Given the description of an element on the screen output the (x, y) to click on. 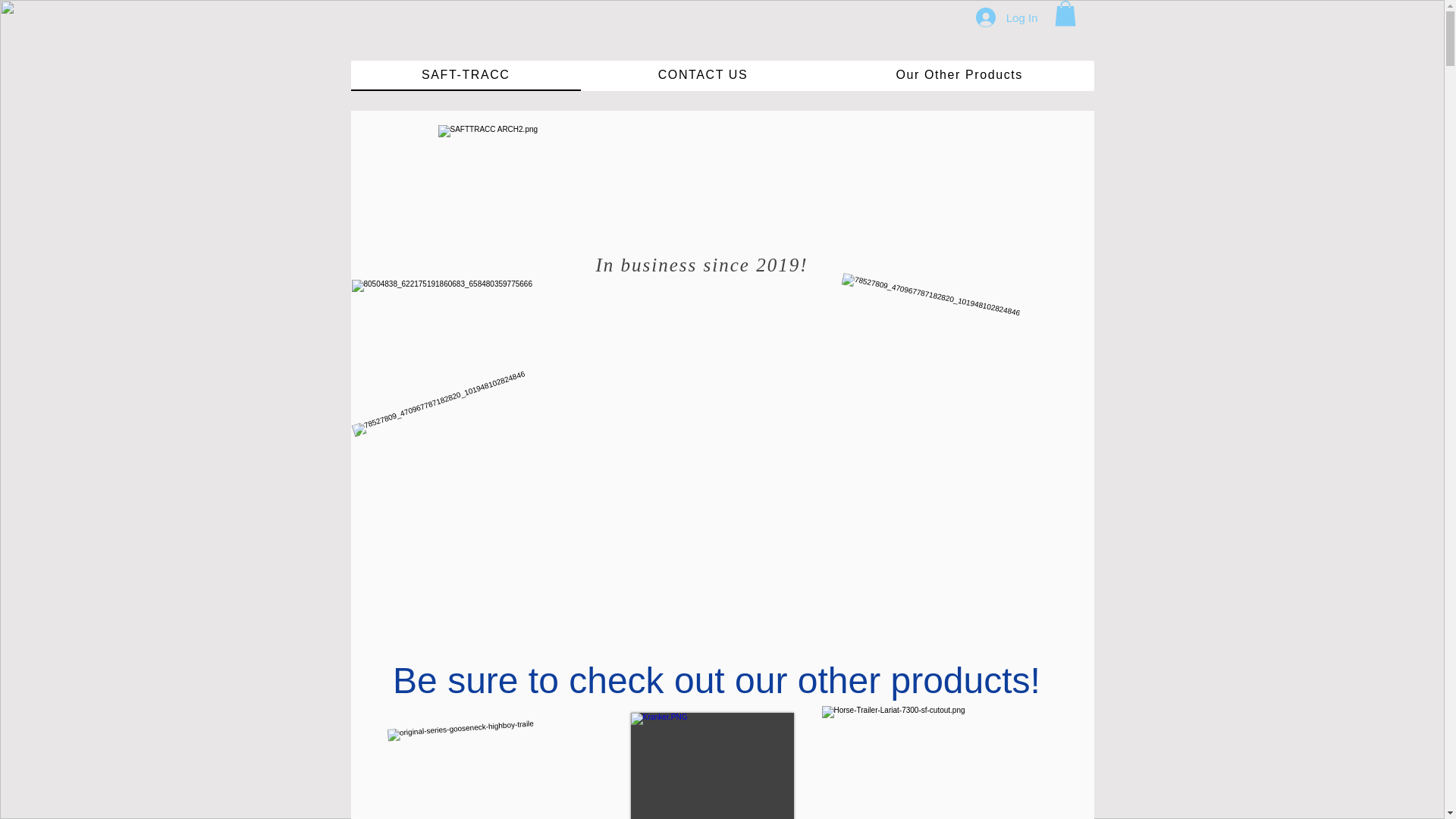
Our Other Products (959, 75)
Log In (1006, 17)
CONTACT US (702, 75)
SAFT-TRACC (465, 75)
